Given the description of an element on the screen output the (x, y) to click on. 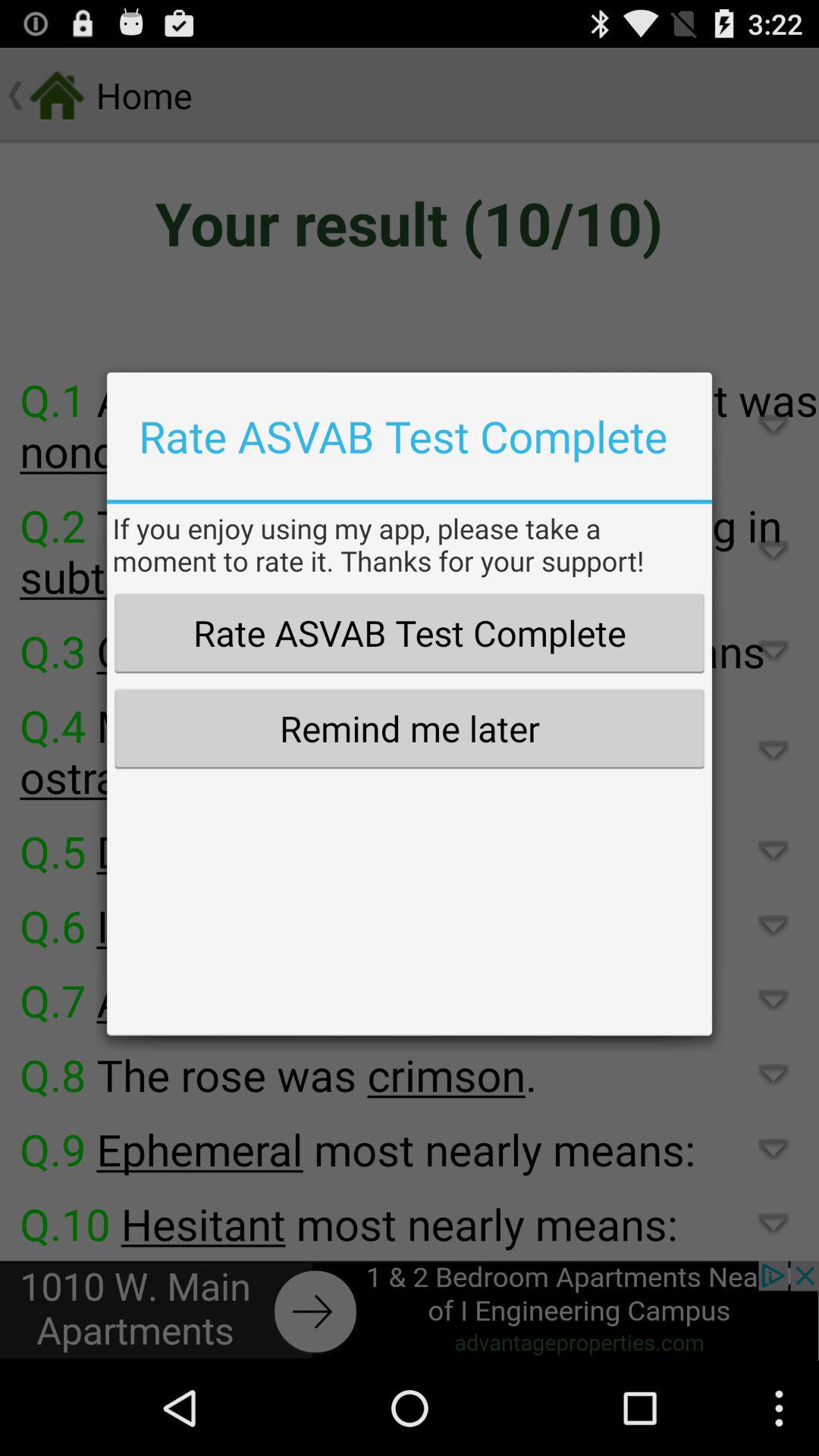
jump to the remind me later icon (409, 728)
